Given the description of an element on the screen output the (x, y) to click on. 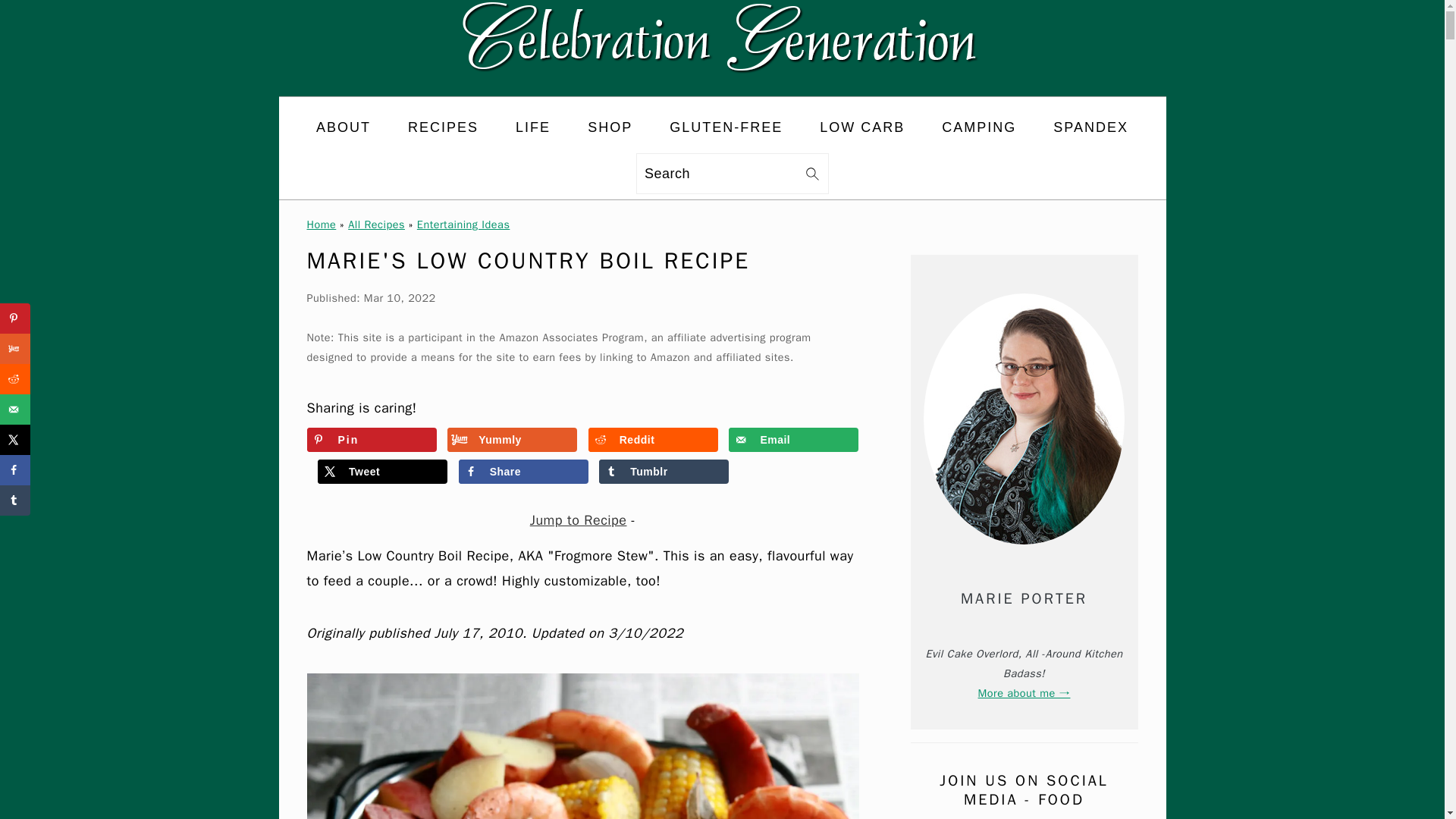
CAMPING (979, 127)
RECIPES (443, 127)
All Recipes (375, 223)
Home (320, 223)
ABOUT (343, 127)
Save to Pinterest (370, 439)
Share on X (381, 471)
LIFE (532, 127)
Share on Tumblr (663, 471)
Celebration Generation (722, 84)
SPANDEX (1090, 127)
Pin (370, 439)
